Given the description of an element on the screen output the (x, y) to click on. 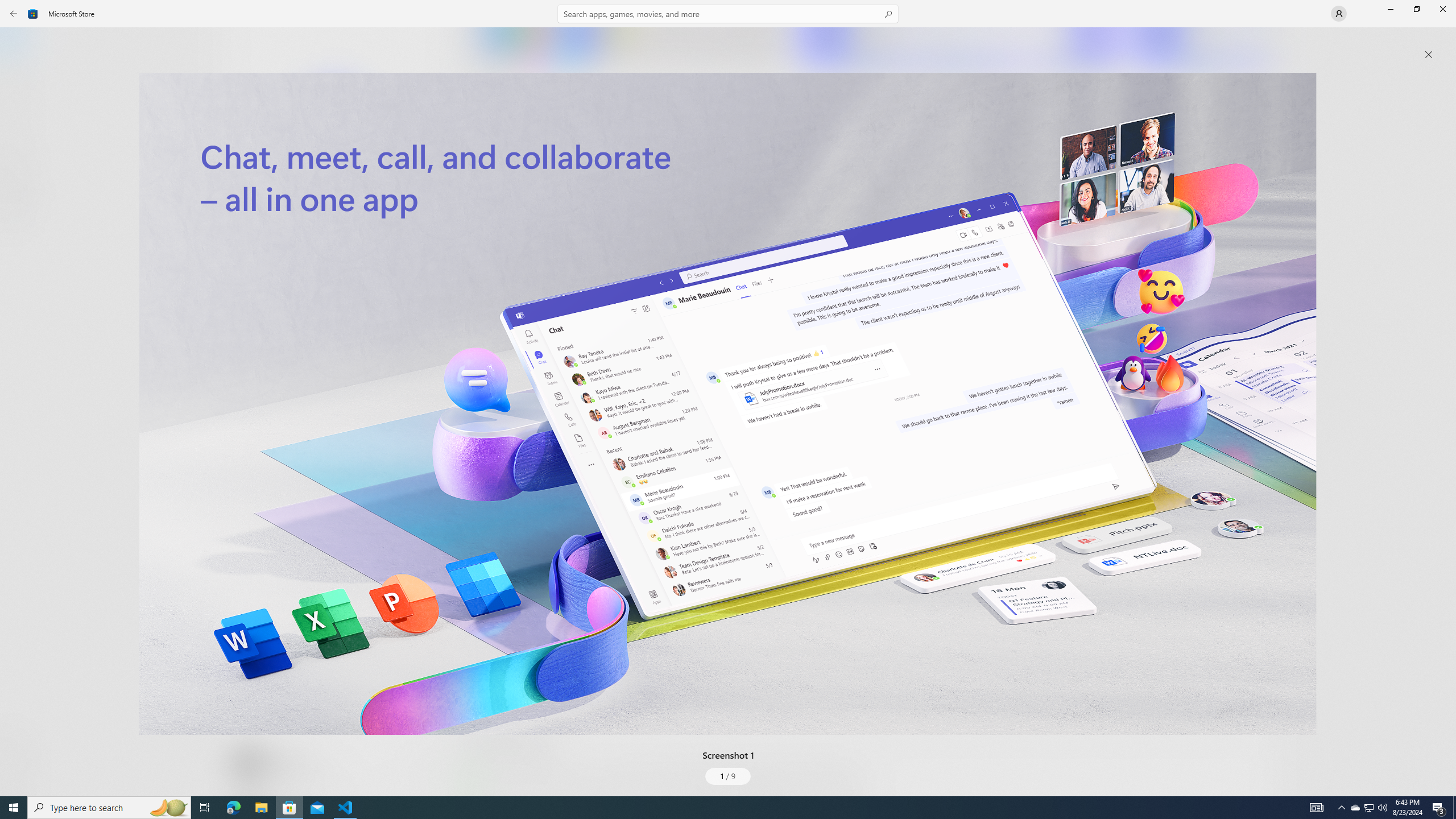
Apps (20, 80)
Gaming (20, 115)
Entertainment (20, 185)
Install (334, 244)
Library (20, 773)
Microsoft Corporation (383, 189)
Home (20, 45)
Restore Microsoft Store (1416, 9)
close popup window (1428, 54)
Back (13, 13)
Minimize Microsoft Store (1390, 9)
AI Hub (20, 221)
Productivity (329, 426)
Show all ratings and reviews (1253, 281)
Screenshot 2 (959, 46)
